Given the description of an element on the screen output the (x, y) to click on. 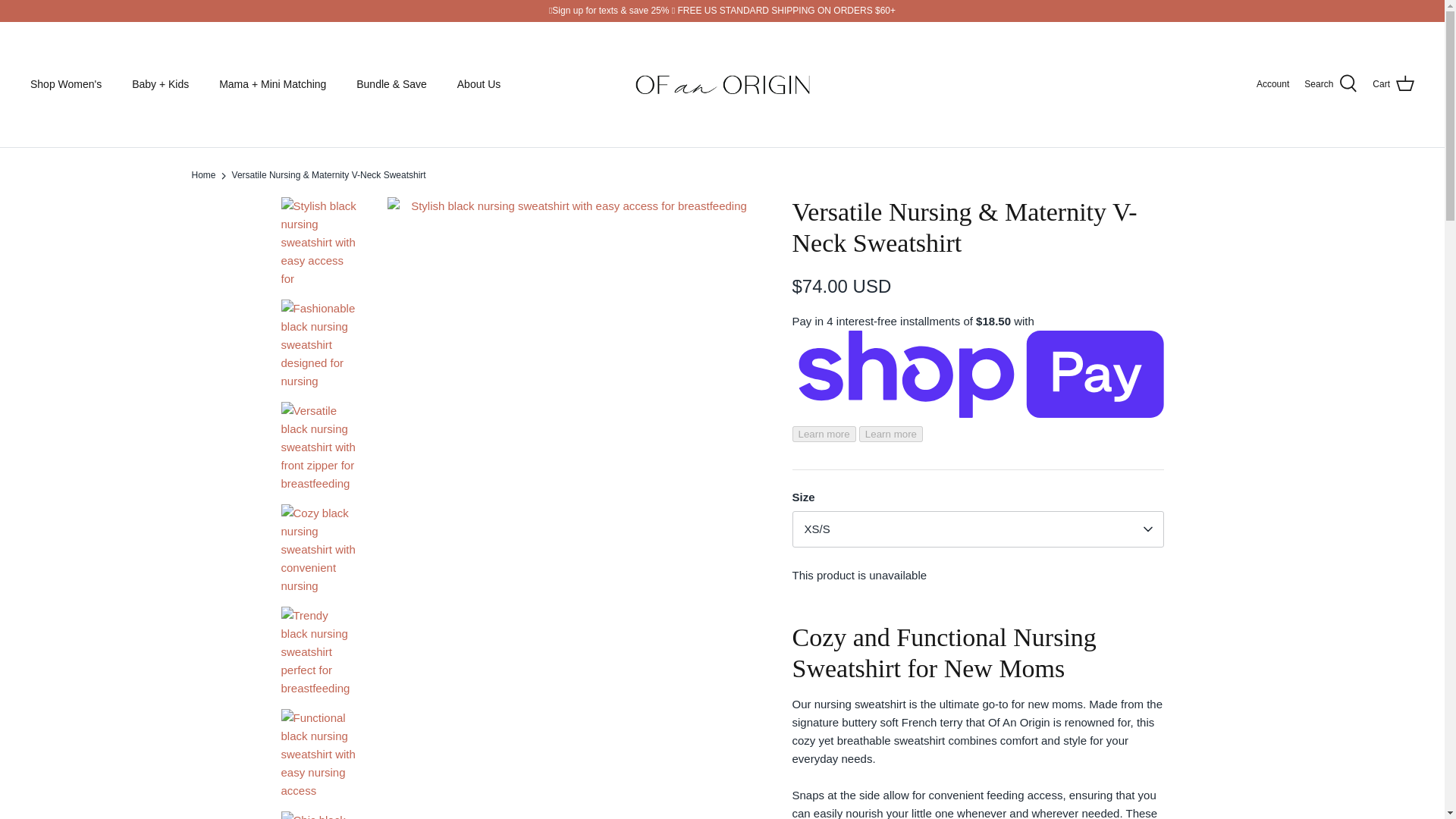
ofanorigin (721, 83)
Shop Women's (65, 83)
Account (1272, 83)
Cart (1393, 84)
Search (1330, 84)
About Us (479, 83)
